Given the description of an element on the screen output the (x, y) to click on. 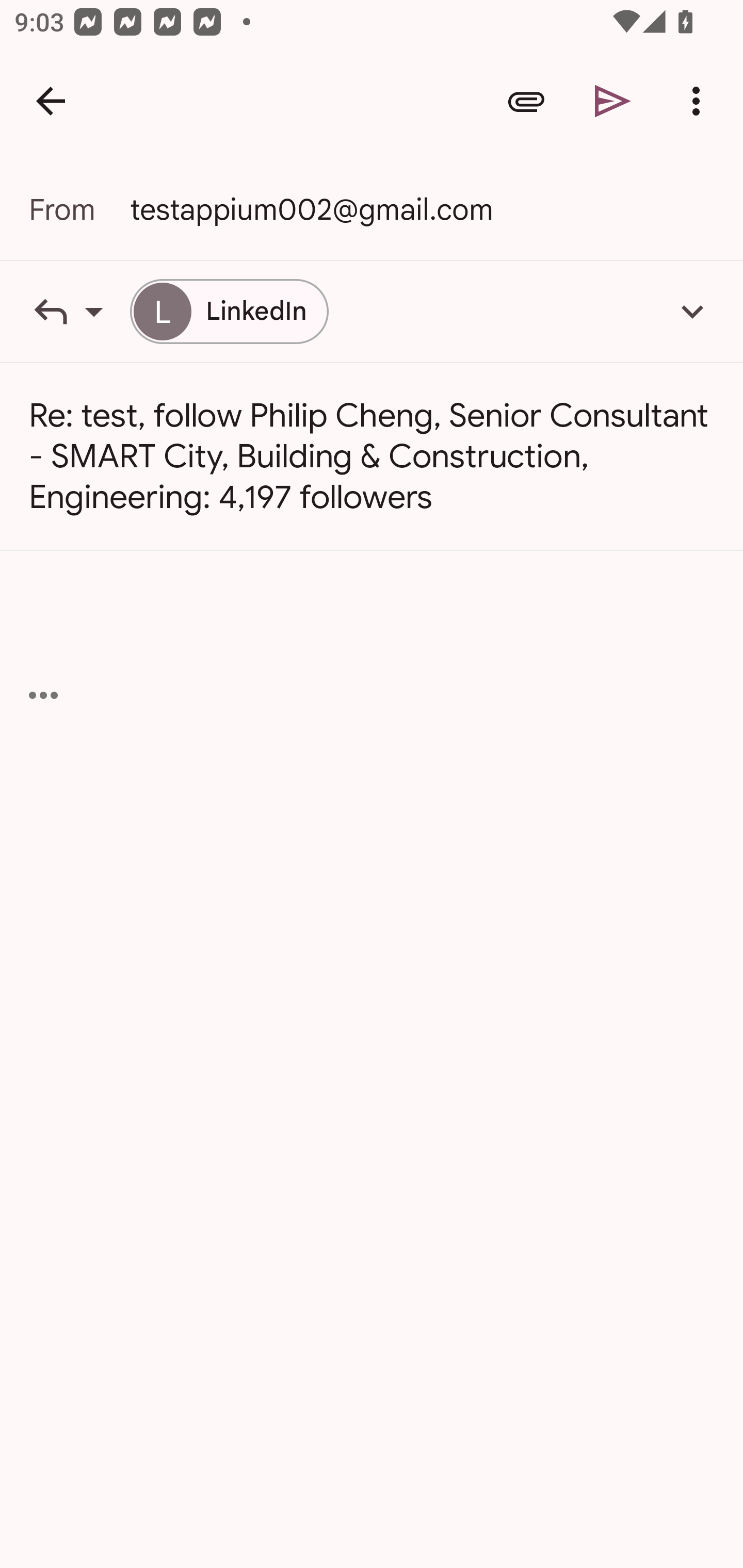
Navigate up (50, 101)
Attach file (525, 101)
Send (612, 101)
More options (699, 101)
From (79, 209)
Reply (79, 311)
Add Cc/Bcc (692, 311)
LinkedIn LinkedIn, messages-noreply@linkedin.com (229, 311)
Include quoted text (43, 695)
